Given the description of an element on the screen output the (x, y) to click on. 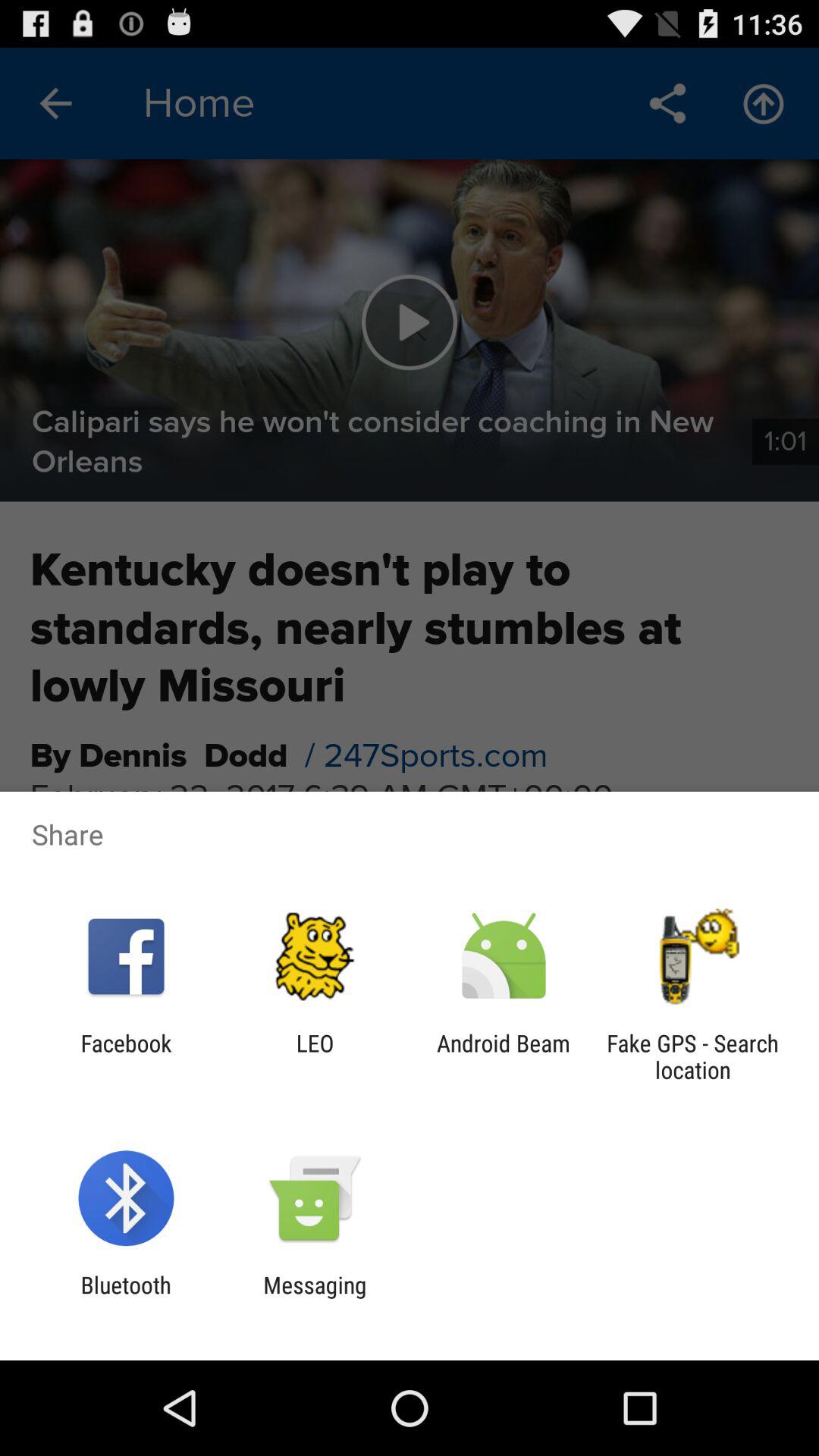
click the icon next to the messaging app (125, 1298)
